Given the description of an element on the screen output the (x, y) to click on. 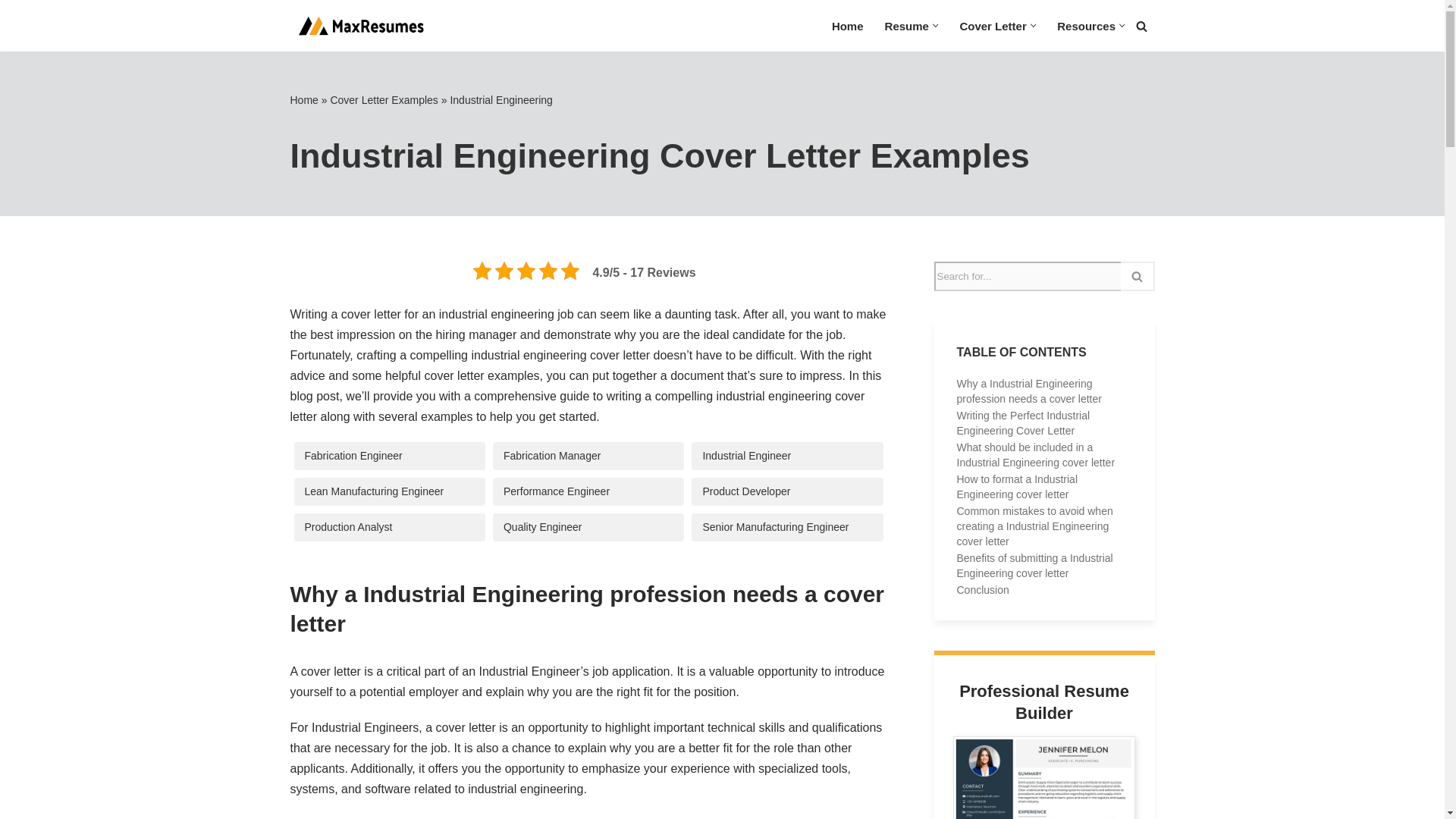
MaxResumes (357, 25)
Resume (906, 26)
Home (847, 26)
Cover Letter (992, 26)
Resources (1086, 26)
Skip to content (11, 31)
